Given the description of an element on the screen output the (x, y) to click on. 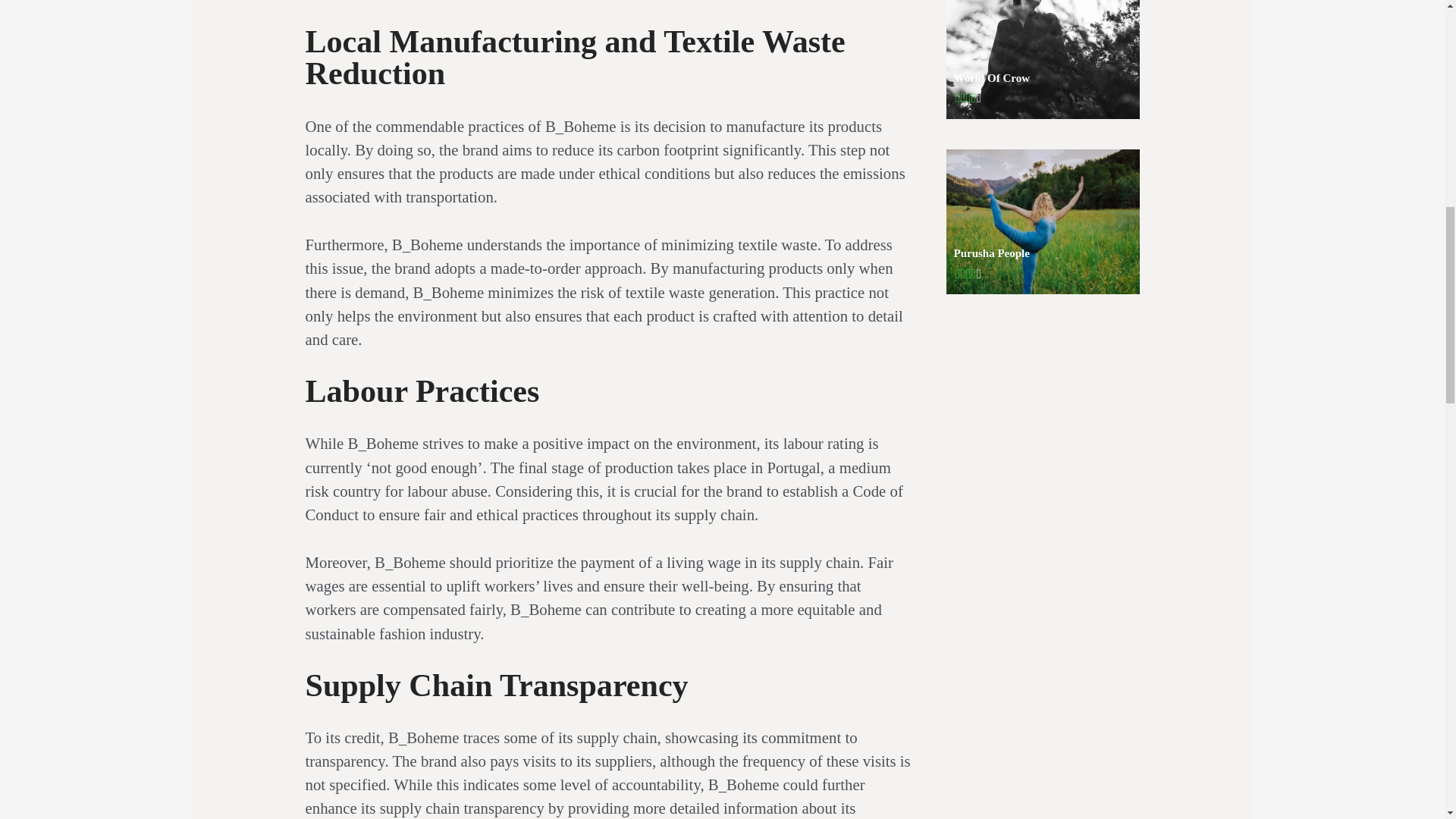
Purusha People (1043, 221)
World Of Crow (1043, 58)
